Given the description of an element on the screen output the (x, y) to click on. 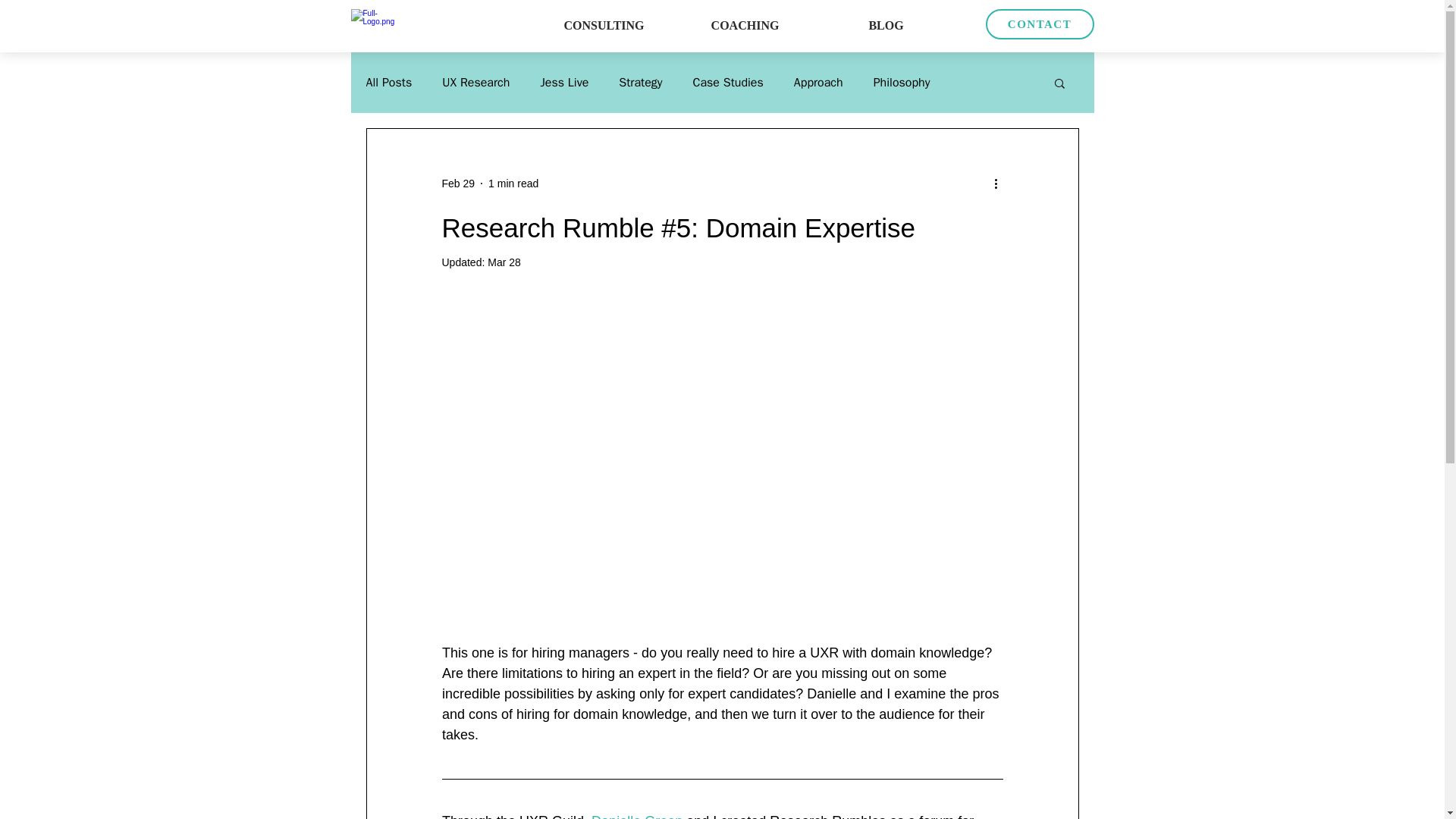
All Posts (388, 82)
Philosophy (901, 82)
Feb 29 (457, 183)
1 min read (512, 183)
Danielle Green (636, 816)
BLOG (885, 25)
Mar 28 (504, 262)
Case Studies (727, 82)
Approach (818, 82)
CONSULTING (604, 25)
Strategy (640, 82)
CONTACT (1039, 24)
Jess Live (564, 82)
UX Research (475, 82)
COACHING (745, 25)
